Given the description of an element on the screen output the (x, y) to click on. 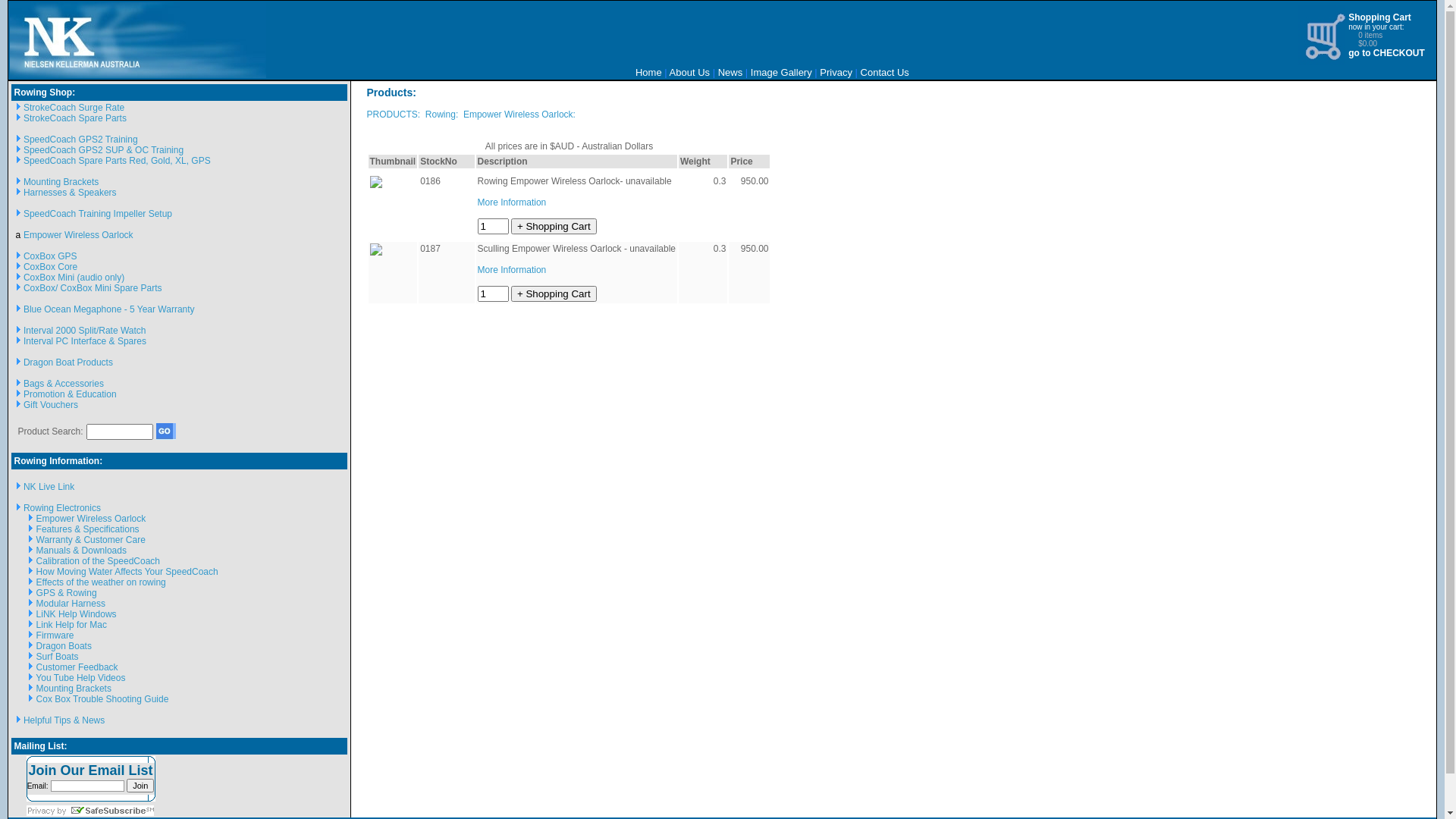
PRODUCTS: Element type: text (393, 114)
Empower Wireless Oarlock Element type: text (91, 518)
Customer Feedback Element type: text (77, 667)
Join Element type: text (139, 785)
Modular Harness Element type: text (70, 603)
Privacy Element type: text (835, 72)
SpeedCoach Spare Parts Red, Gold, XL, GPS Element type: text (116, 160)
Interval 2000 Split/Rate Watch Element type: text (84, 330)
Rowing Electronics Element type: text (61, 507)
go to CHECKOUT Element type: text (1386, 52)
SpeedCoach Training Impeller Setup Element type: text (97, 213)
Surf Boats Element type: text (57, 656)
Dragon Boat Products Element type: text (67, 362)
More Information Element type: text (511, 269)
NK Live Link Element type: text (48, 486)
Empower Wireless Oarlock: Element type: text (519, 114)
Promotion & Education Element type: text (69, 394)
CoxBox Mini (audio only) Element type: text (73, 277)
Firmware Element type: text (55, 635)
Mounting Brackets Element type: text (73, 688)
Shopping Cart Element type: text (1379, 17)
Home Element type: text (648, 72)
LiNK Help Windows Element type: text (76, 613)
News Element type: text (730, 72)
Calibration of the SpeedCoach Element type: text (98, 560)
Interval PC Interface & Spares Element type: text (84, 340)
CoxBox Core Element type: text (50, 266)
+ Shopping Cart Element type: text (553, 226)
Rowing: Element type: text (441, 114)
Empower Wireless Oarlock Element type: text (78, 234)
Mounting Brackets Element type: text (60, 181)
Bags & Accessories Element type: text (63, 383)
You Tube Help Videos Element type: text (80, 677)
CoxBox/ CoxBox Mini Spare Parts Element type: text (92, 287)
Effects of the weather on rowing Element type: text (101, 582)
How Moving Water Affects Your SpeedCoach Element type: text (127, 571)
More Information Element type: text (511, 202)
Features & Specifications Element type: text (87, 529)
Blue Ocean Megaphone - 5 Year Warranty Element type: text (108, 309)
Manuals & Downloads Element type: text (81, 550)
SpeedCoach GPS2 SUP & OC Training Element type: text (103, 149)
StrokeCoach Surge Rate Element type: text (73, 107)
StrokeCoach Spare Parts Element type: text (74, 117)
GPS & Rowing Element type: text (66, 592)
Warranty & Customer Care Element type: text (90, 539)
Link Help for Mac Element type: text (71, 624)
Contact Us Element type: text (884, 72)
Cox Box Trouble Shooting Guide Element type: text (102, 698)
Harnesses & Speakers Element type: text (69, 192)
Helpful Tips & News Element type: text (63, 720)
Dragon Boats Element type: text (63, 645)
Gift Vouchers Element type: text (50, 404)
About Us Element type: text (689, 72)
CoxBox GPS Element type: text (50, 256)
SpeedCoach GPS2 Training Element type: text (80, 139)
Image Gallery Element type: text (781, 72)
+ Shopping Cart Element type: text (553, 293)
